Given the description of an element on the screen output the (x, y) to click on. 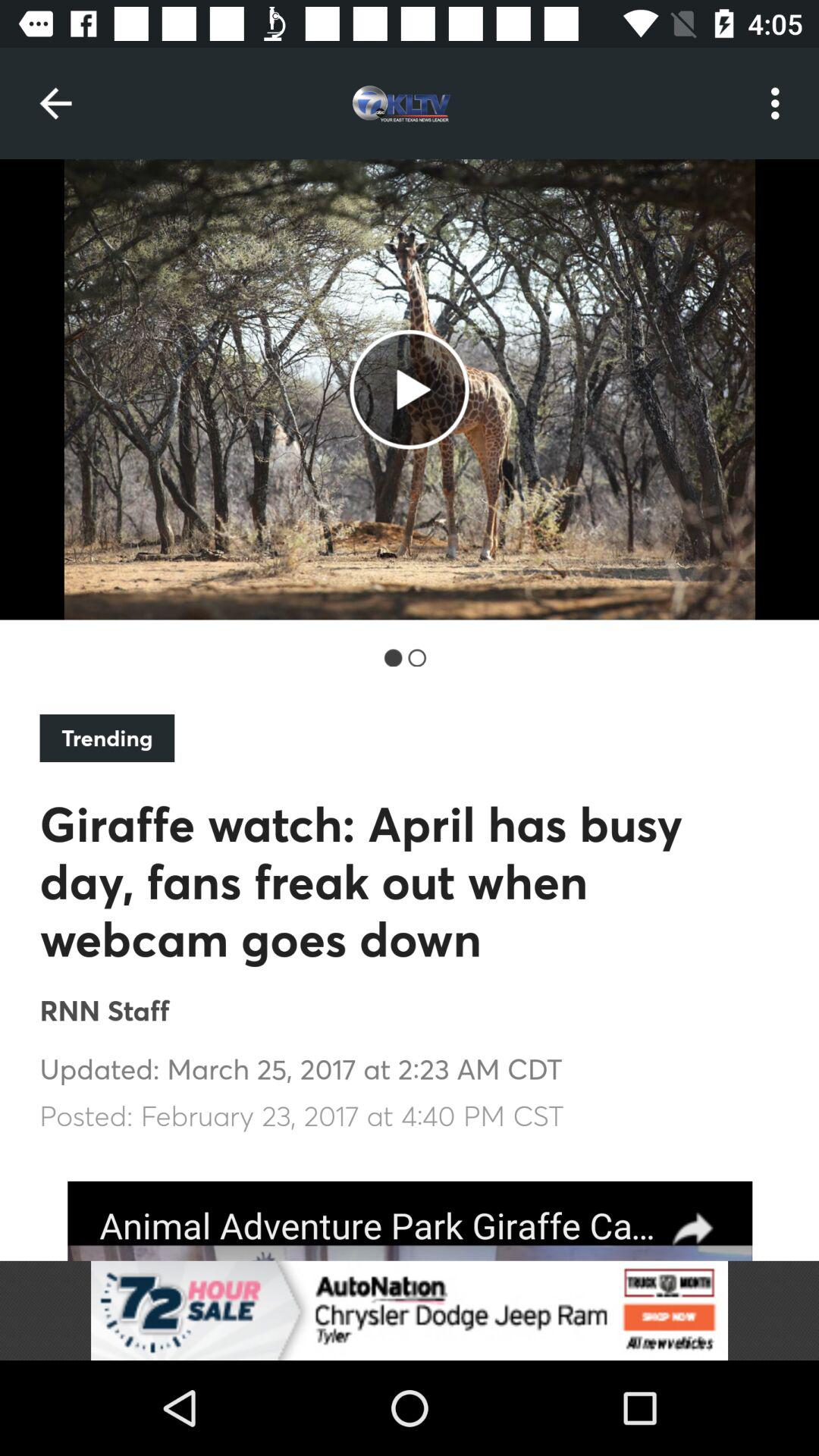
advertisement (409, 1310)
